Given the description of an element on the screen output the (x, y) to click on. 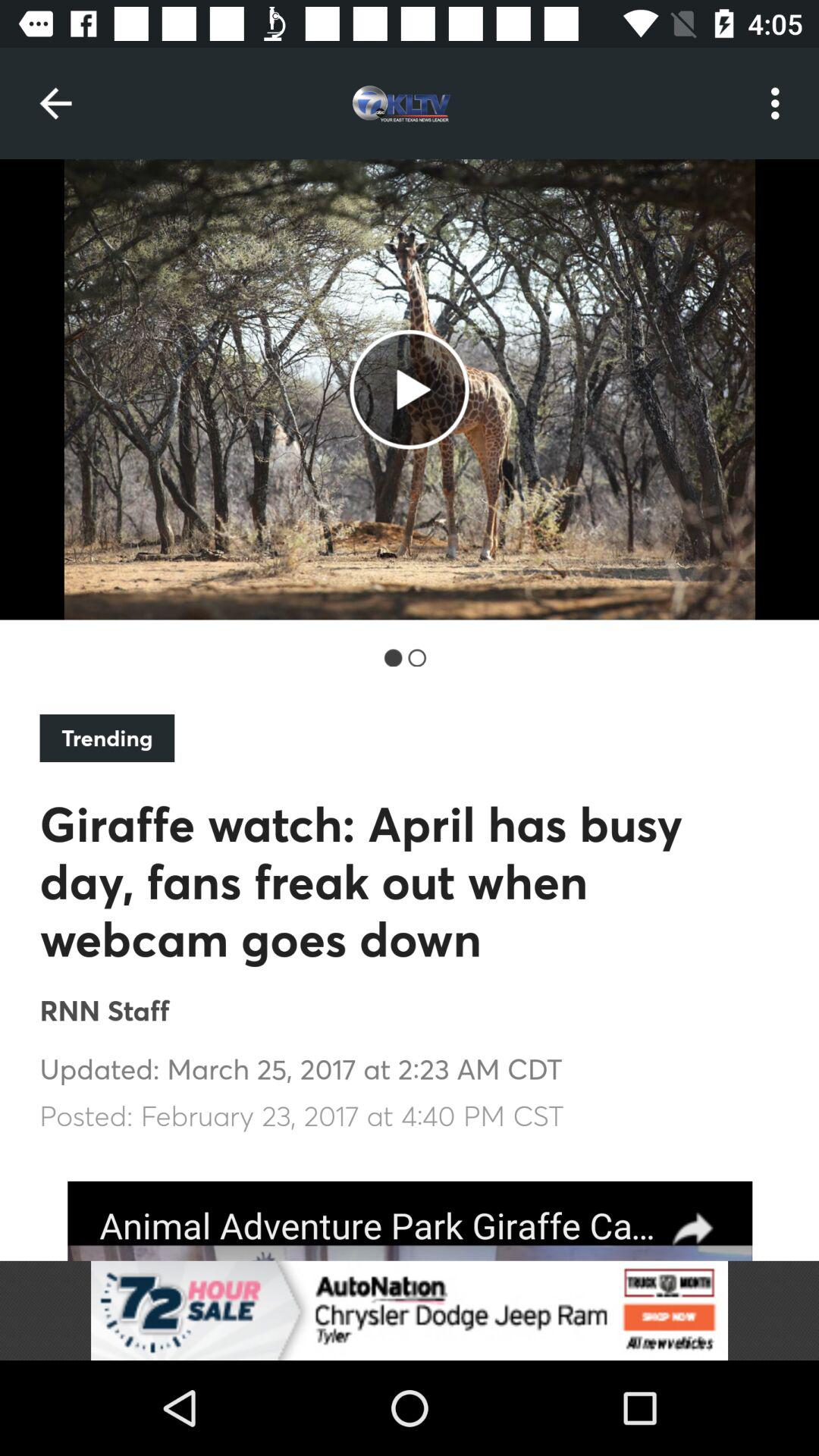
advertisement (409, 1310)
